Given the description of an element on the screen output the (x, y) to click on. 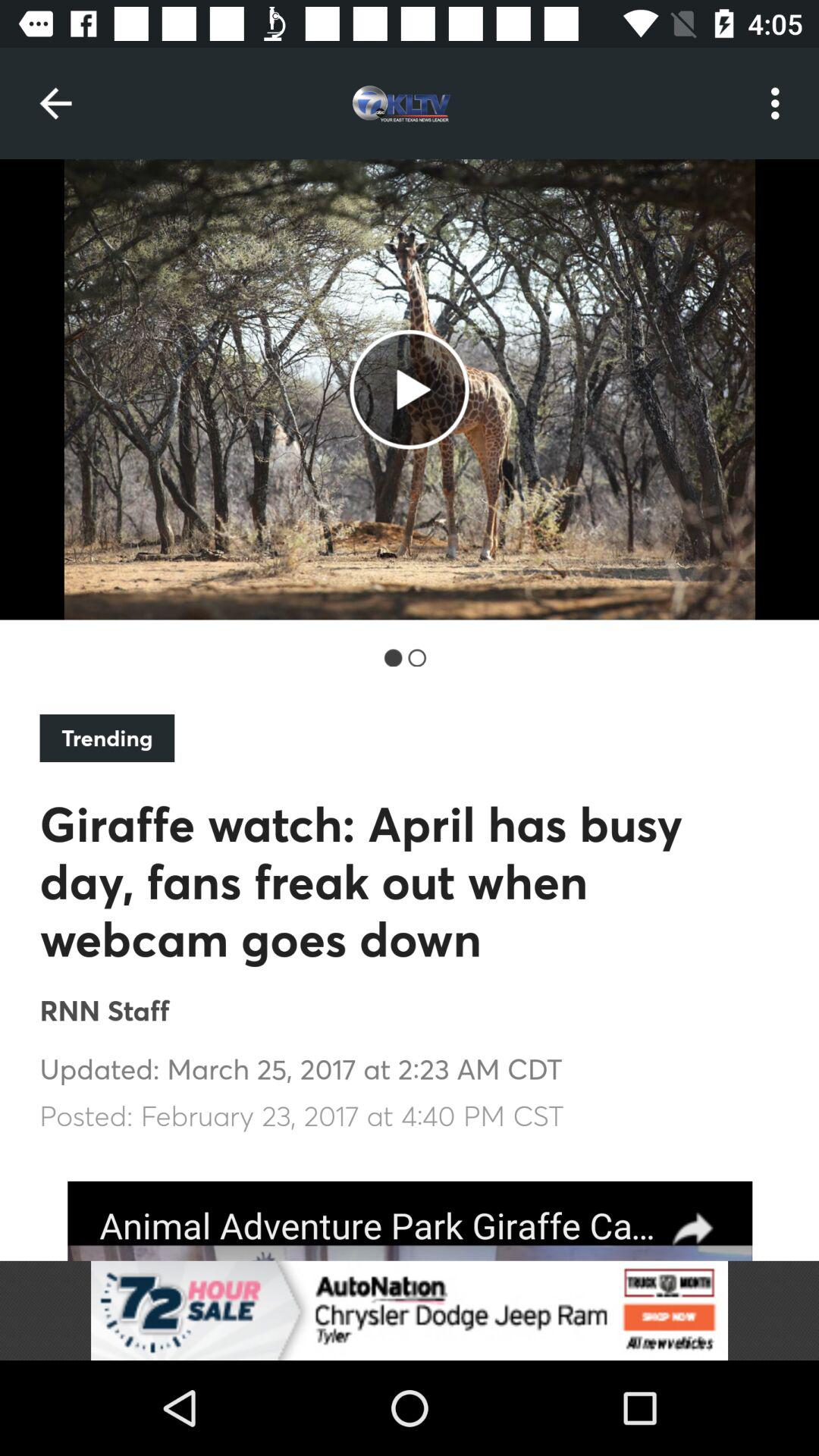
advertisement (409, 1310)
